Given the description of an element on the screen output the (x, y) to click on. 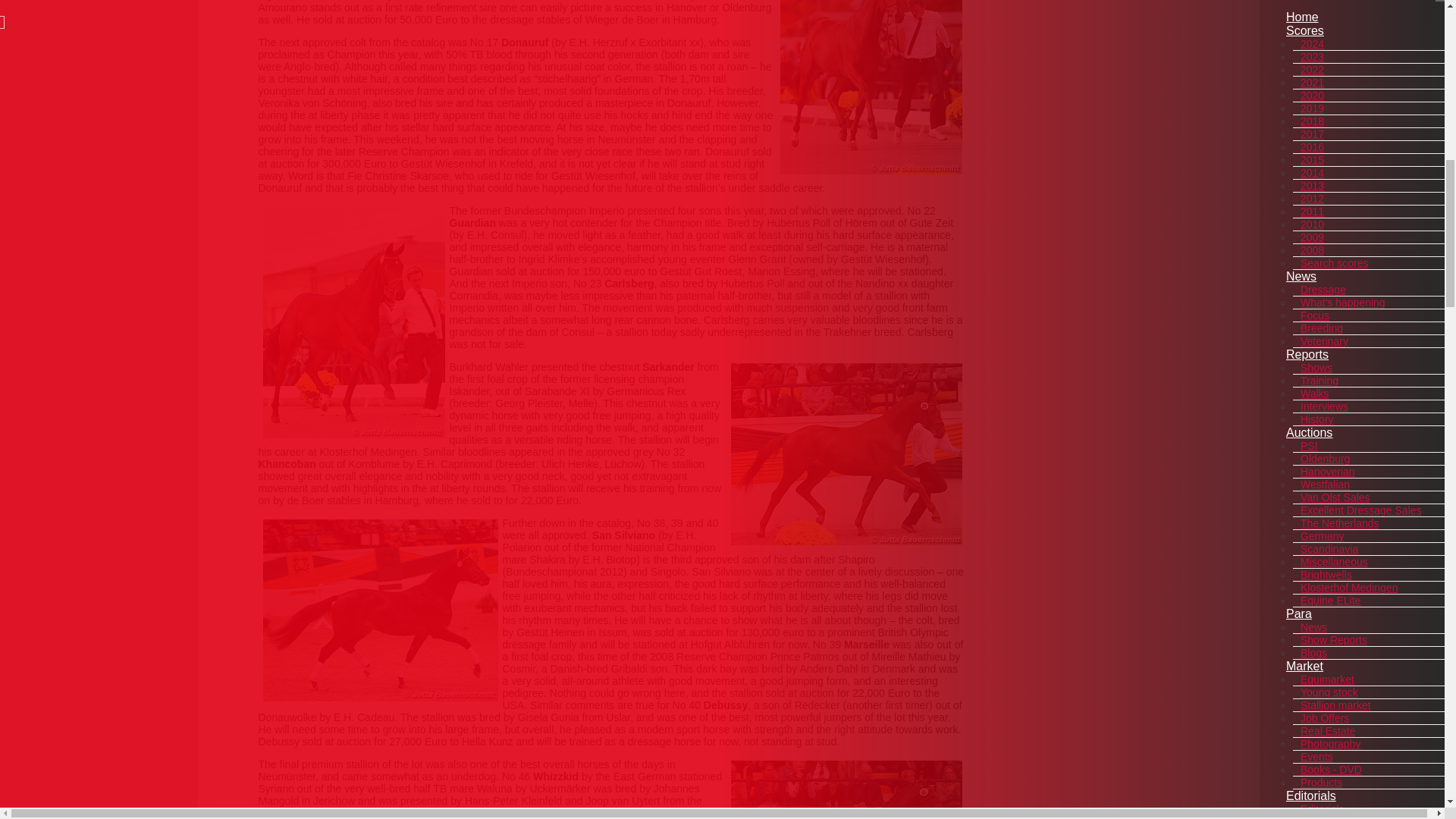
San Silviano (379, 610)
Whizzkid (846, 789)
Amourano (869, 87)
Sarkander (846, 454)
